Given the description of an element on the screen output the (x, y) to click on. 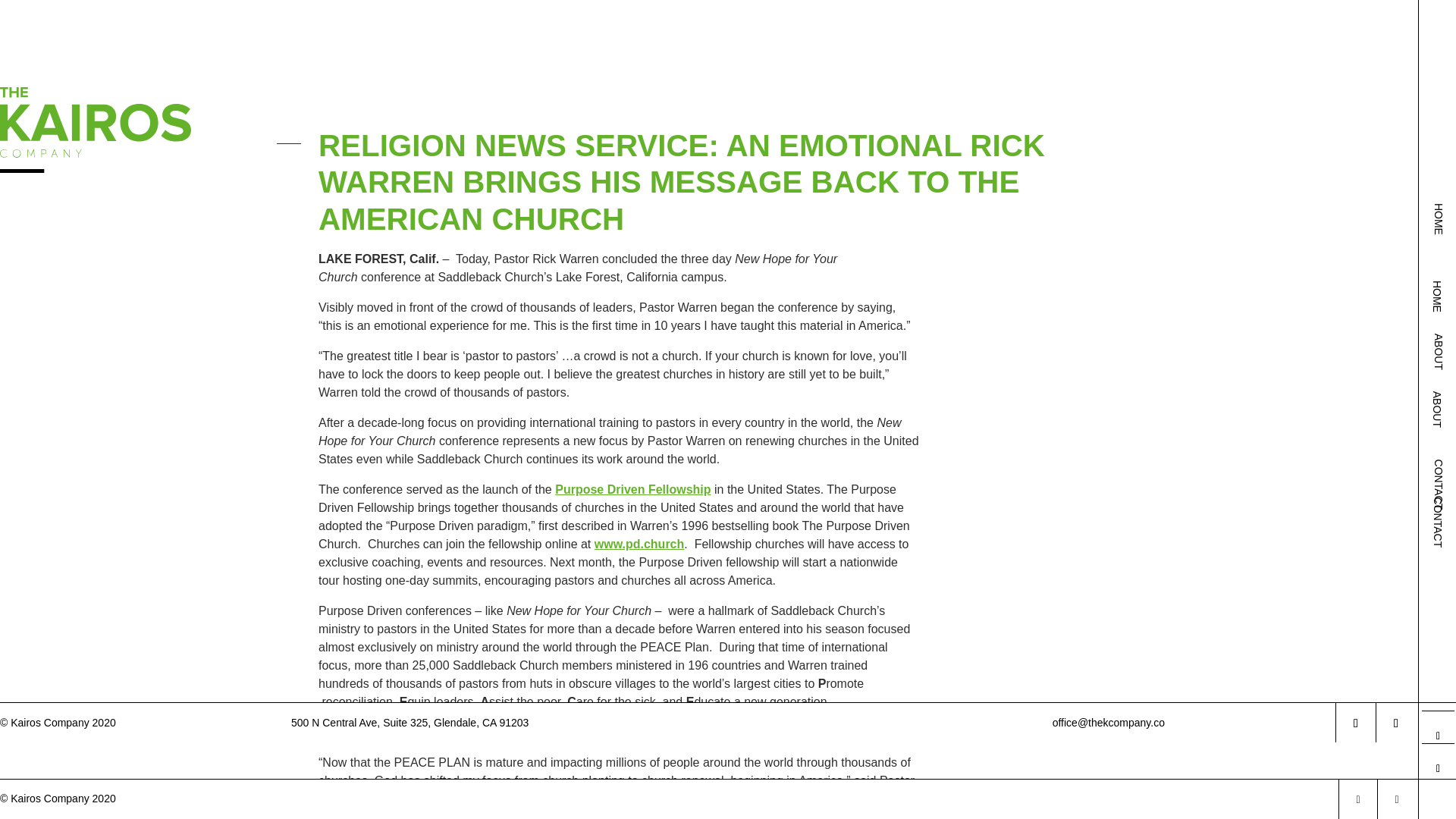
www.pd.church (639, 543)
Purpose Driven Fellowship (632, 489)
imageb (95, 53)
